Given the description of an element on the screen output the (x, y) to click on. 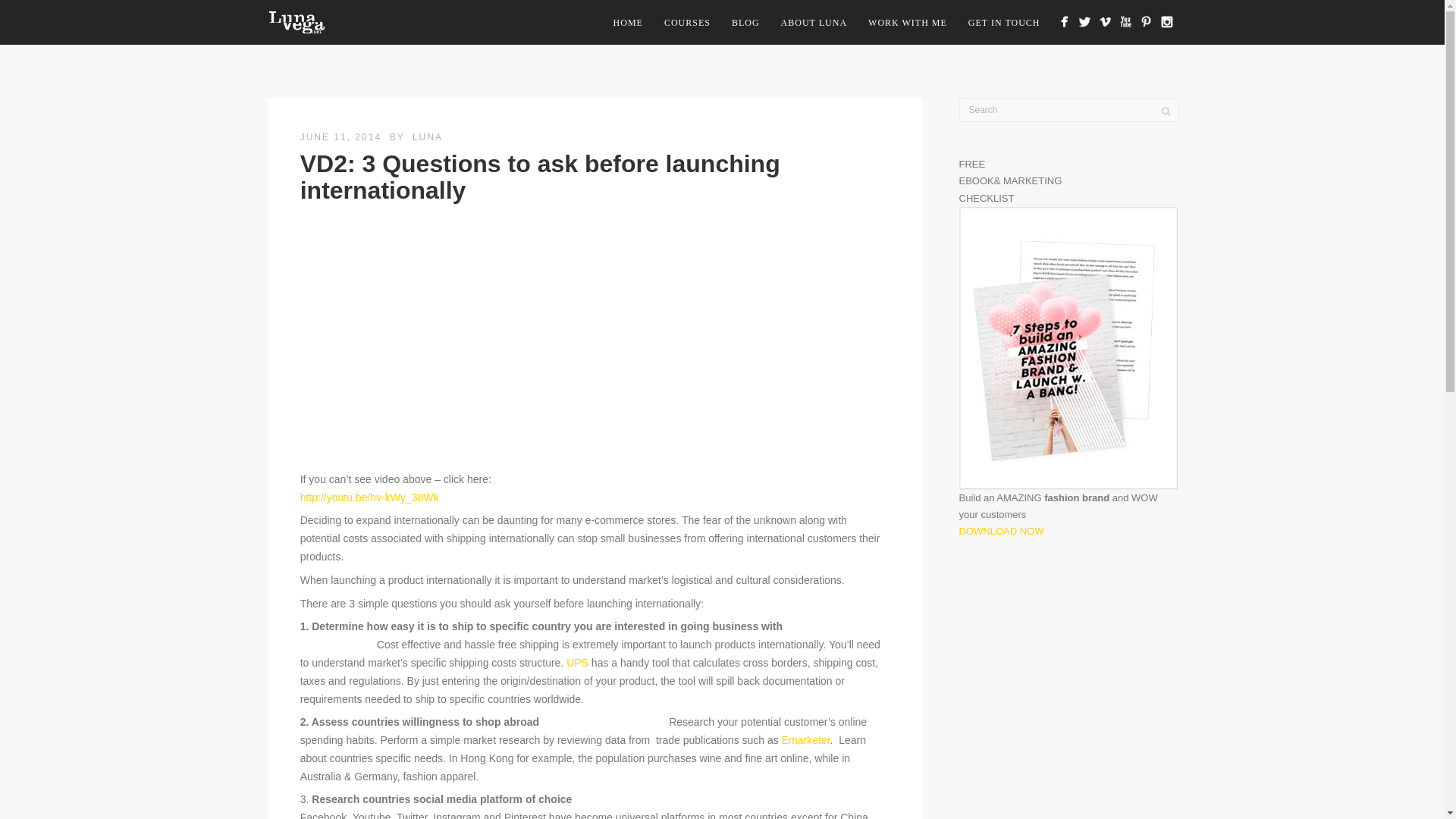
Pinterest (1144, 21)
WORK WITH ME (907, 22)
Youtube (1125, 21)
BLOG (745, 22)
LUNA (427, 136)
COURSES (686, 22)
Vimeo (1103, 21)
HOME (627, 22)
UPS (577, 662)
GET IN TOUCH (1004, 22)
